Given the description of an element on the screen output the (x, y) to click on. 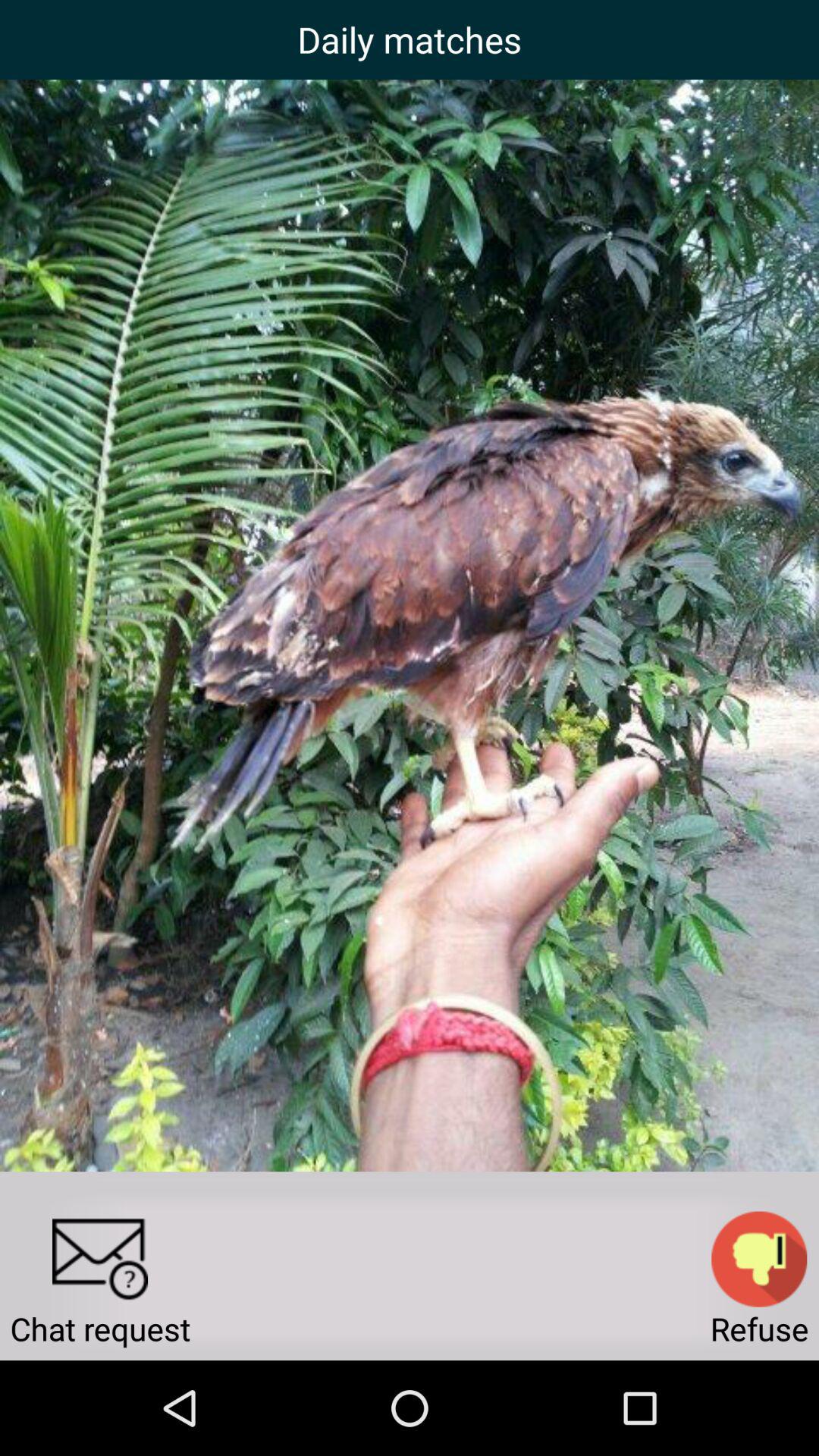
remove current match (759, 1258)
